Given the description of an element on the screen output the (x, y) to click on. 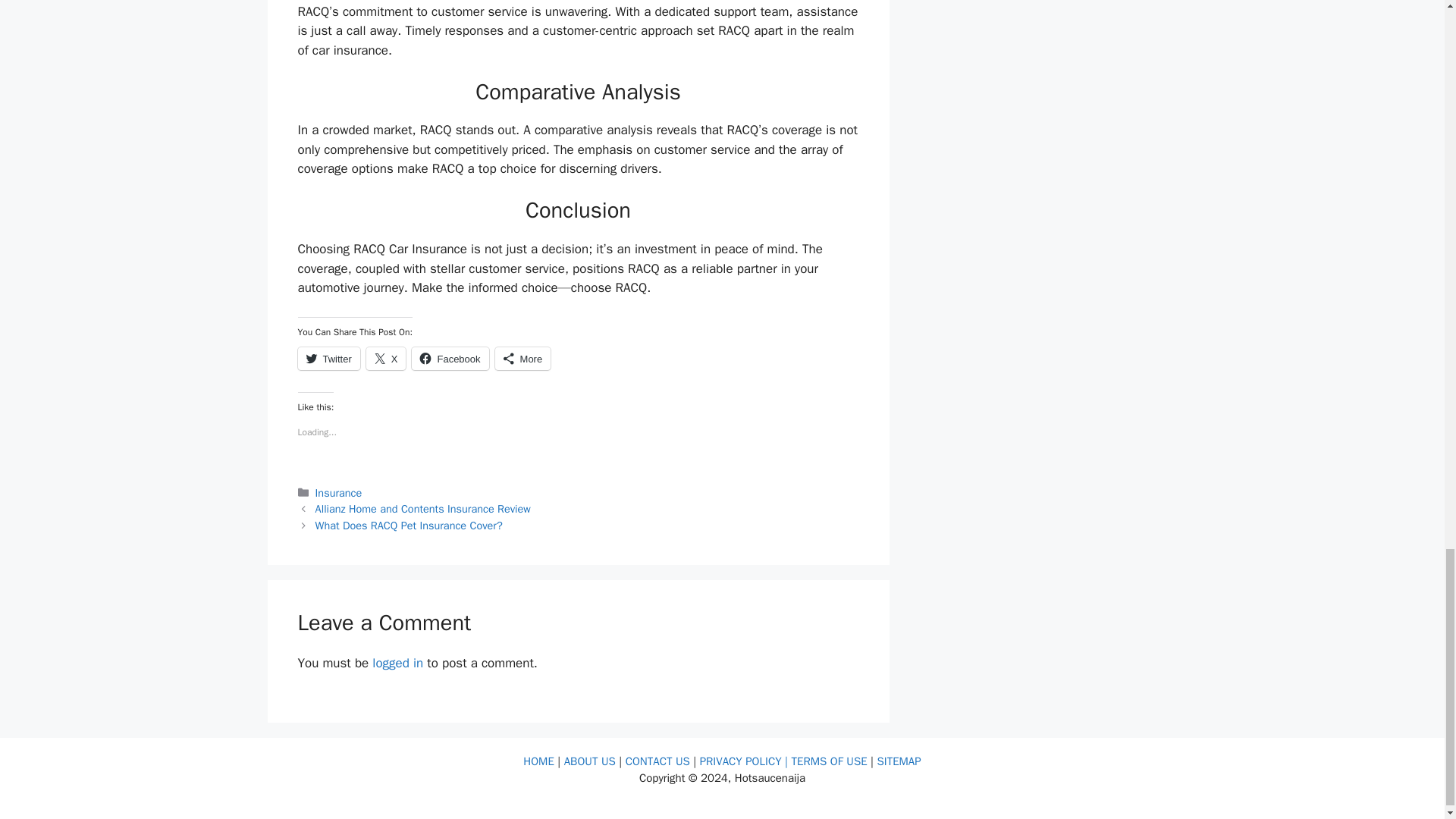
Click to share on Twitter (328, 358)
CONTACT US (658, 761)
Click to share on Facebook (449, 358)
More (523, 358)
X (386, 358)
Click to share on X (386, 358)
Insurance (338, 492)
TERMS OF USE (830, 761)
SITEMAP (898, 761)
Facebook (449, 358)
HOME (539, 761)
What Does RACQ Pet Insurance Cover? (408, 525)
Allianz Home and Contents Insurance Review (423, 508)
ABOUT US (592, 761)
logged in (397, 662)
